Given the description of an element on the screen output the (x, y) to click on. 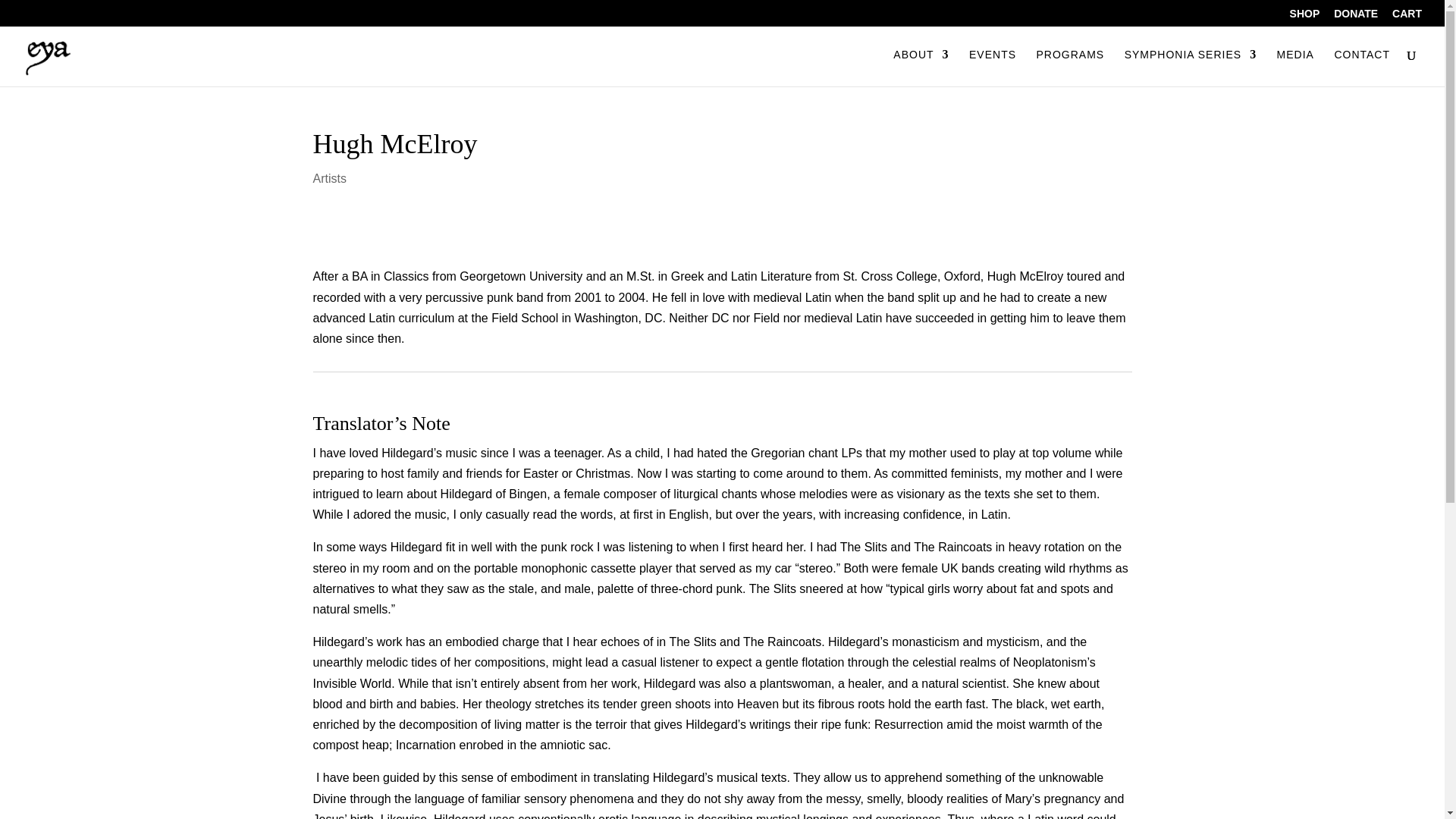
Artists (329, 178)
PROGRAMS (1069, 67)
EVENTS (992, 67)
SYMPHONIA SERIES (1190, 67)
ABOUT (921, 67)
MEDIA (1295, 67)
SHOP (1305, 16)
CART (1406, 16)
CONTACT (1361, 67)
DONATE (1355, 16)
